Given the description of an element on the screen output the (x, y) to click on. 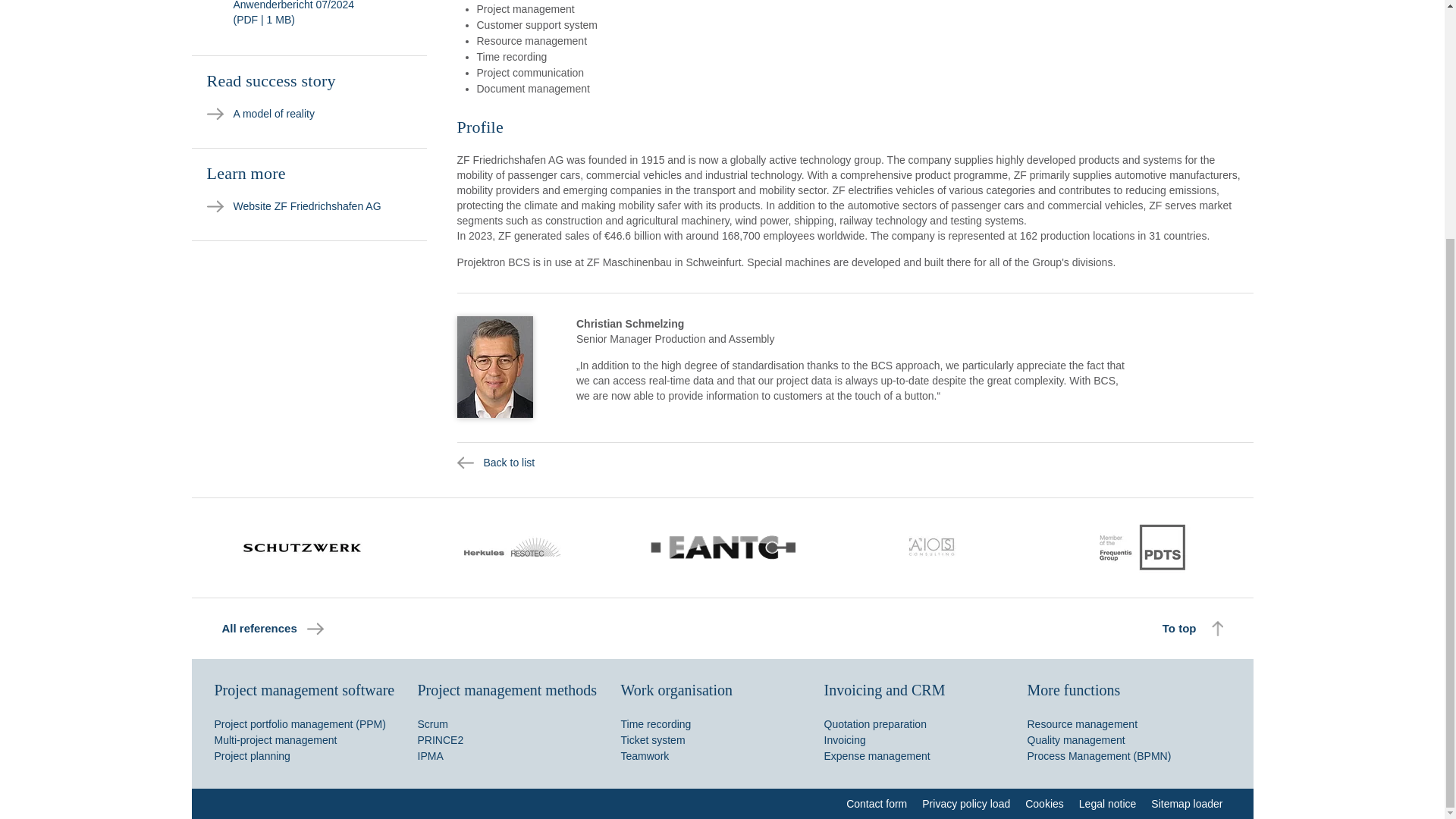
Resource management (1081, 724)
PRINCE2 (439, 739)
Project planning (251, 756)
IPMA (429, 756)
Multi-project management (275, 739)
Ticket system (652, 739)
Invoicing (844, 739)
reference.citeperson (494, 366)
Quotation preparation (875, 724)
Time recording (655, 724)
Scrum (431, 724)
Quality management (1075, 739)
Expense management (877, 756)
Teamwork (644, 756)
